Given the description of an element on the screen output the (x, y) to click on. 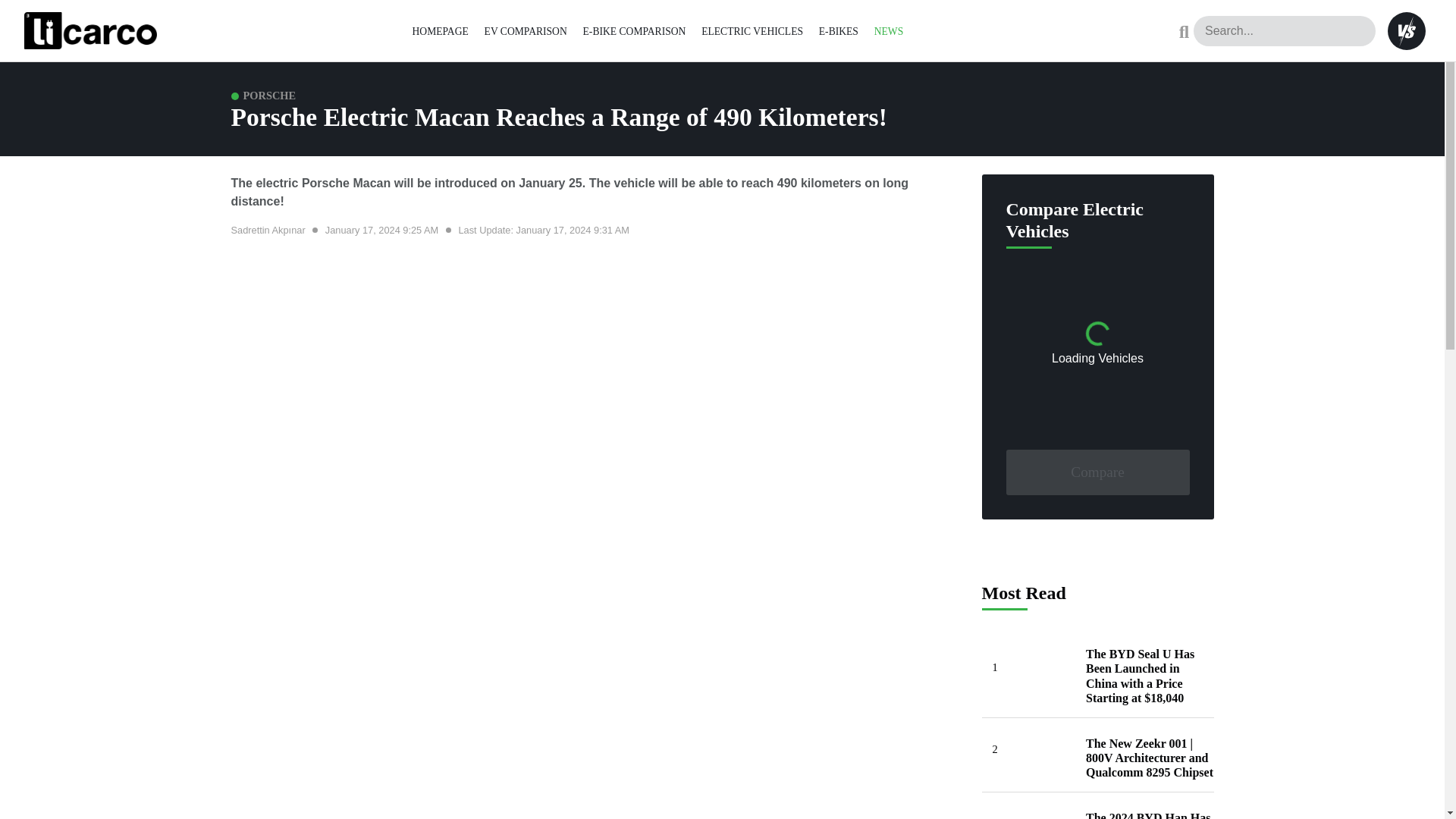
NEWS (889, 30)
HOMEPAGE (440, 30)
E-BIKES (838, 30)
Compare (1097, 472)
E-BIKE COMPARISON (634, 30)
ELECTRIC VEHICLES (752, 30)
EV COMPARISON (525, 30)
